Given the description of an element on the screen output the (x, y) to click on. 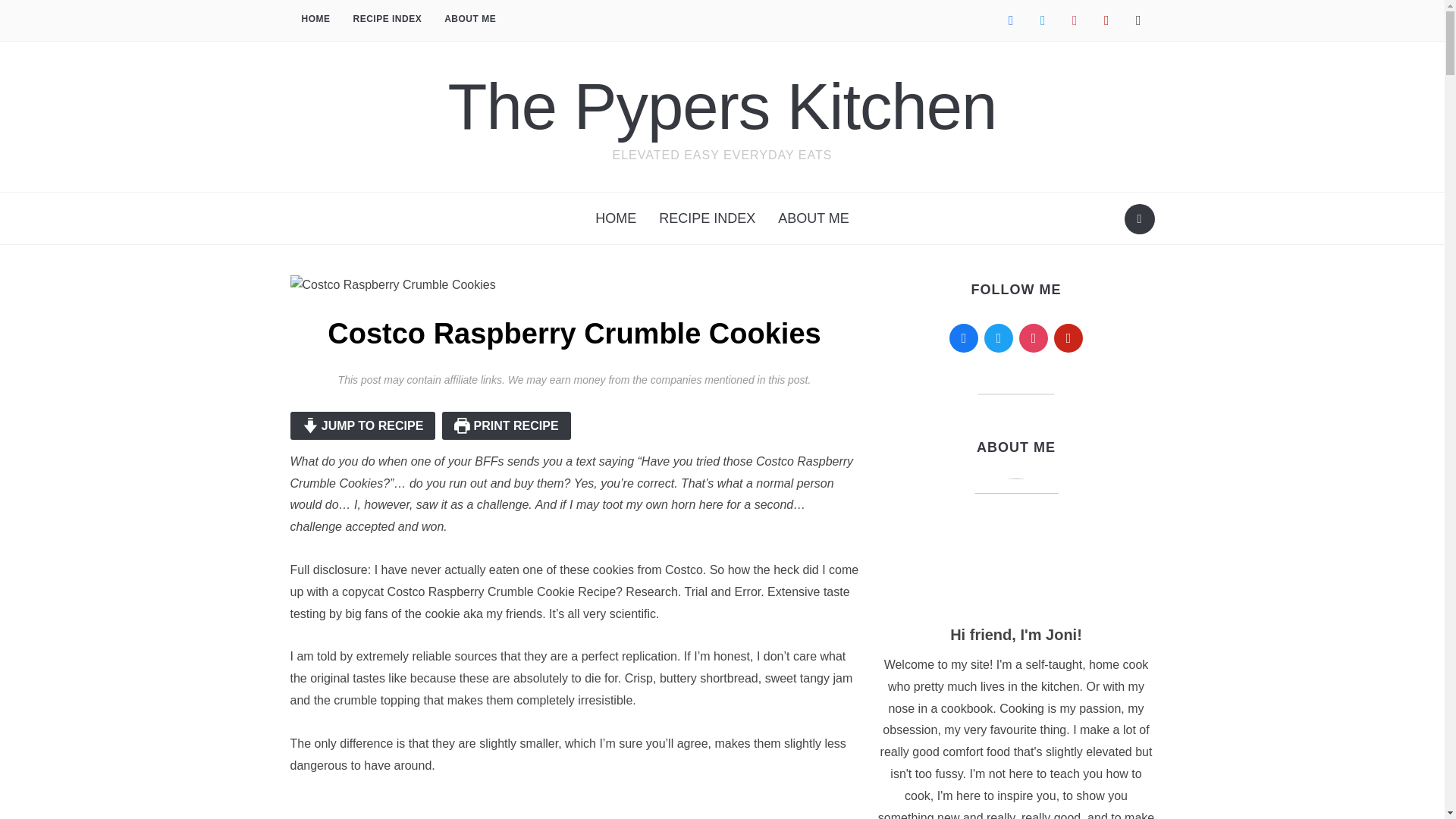
The Pypers Kitchen (722, 106)
facebook (1010, 19)
Follow Me (1042, 19)
HOME (615, 218)
Friend me on Facebook (1010, 19)
Elevated Easy Everyday Eats (722, 106)
PRINT RECIPE (506, 425)
JUMP TO RECIPE (362, 425)
ABOUT ME (813, 218)
copyright (1138, 19)
RECIPE INDEX (386, 19)
ABOUT ME (469, 19)
Search (1139, 218)
pinterest (1106, 19)
RECIPE INDEX (707, 218)
